Given the description of an element on the screen output the (x, y) to click on. 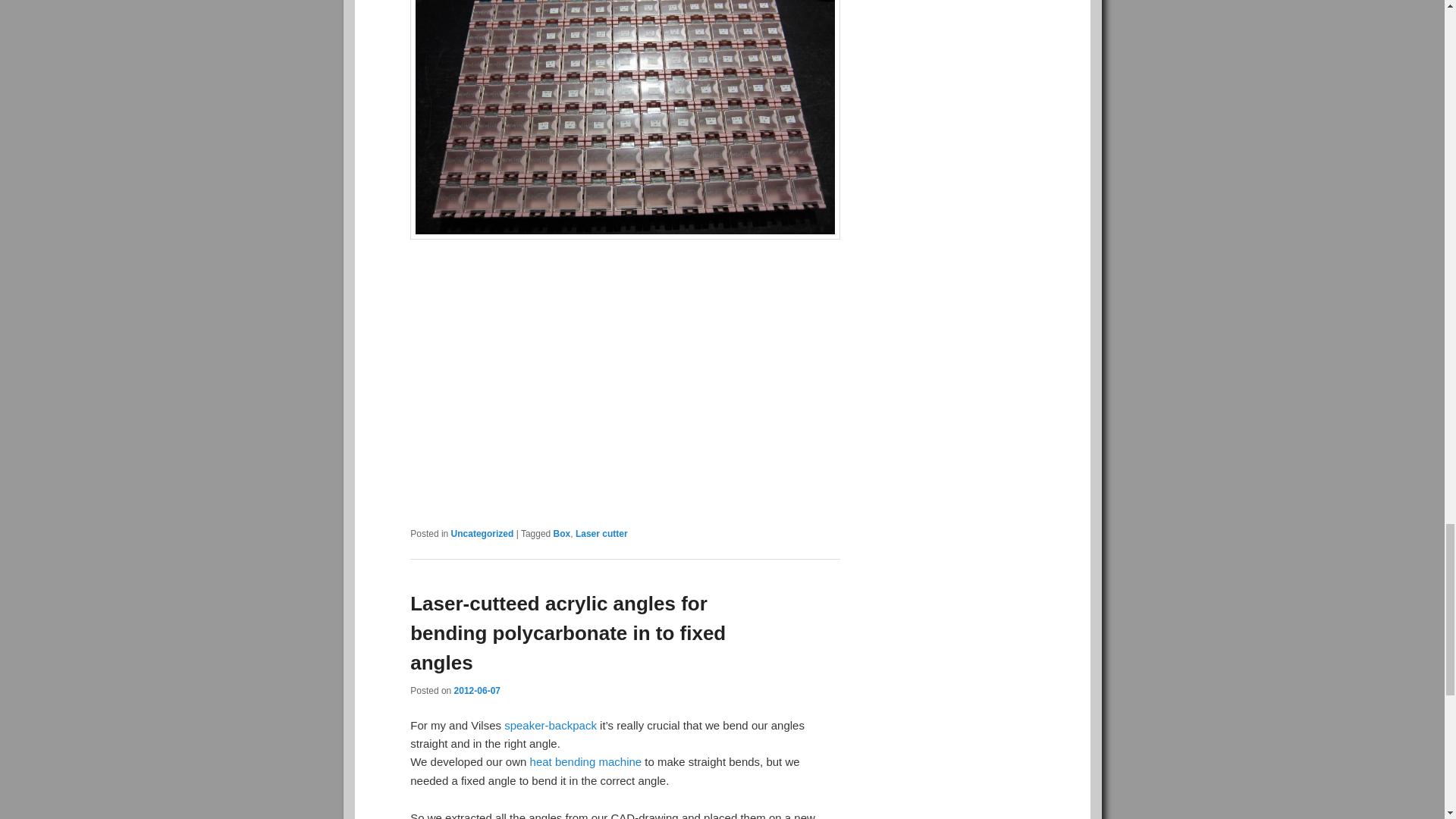
heat bending machine (585, 761)
speaker-backpack (549, 725)
03:46 (477, 690)
